Given the description of an element on the screen output the (x, y) to click on. 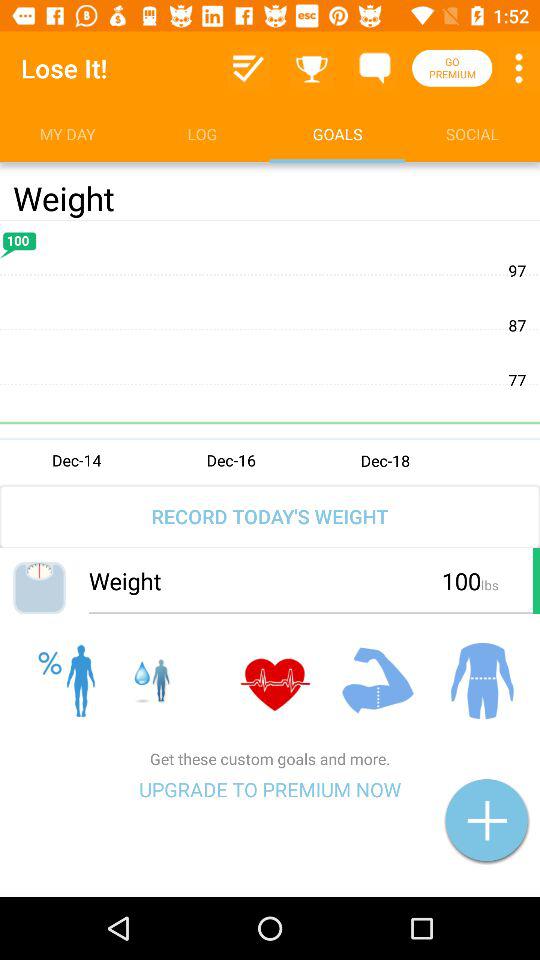
show a graphic about lose weight (270, 351)
